Given the description of an element on the screen output the (x, y) to click on. 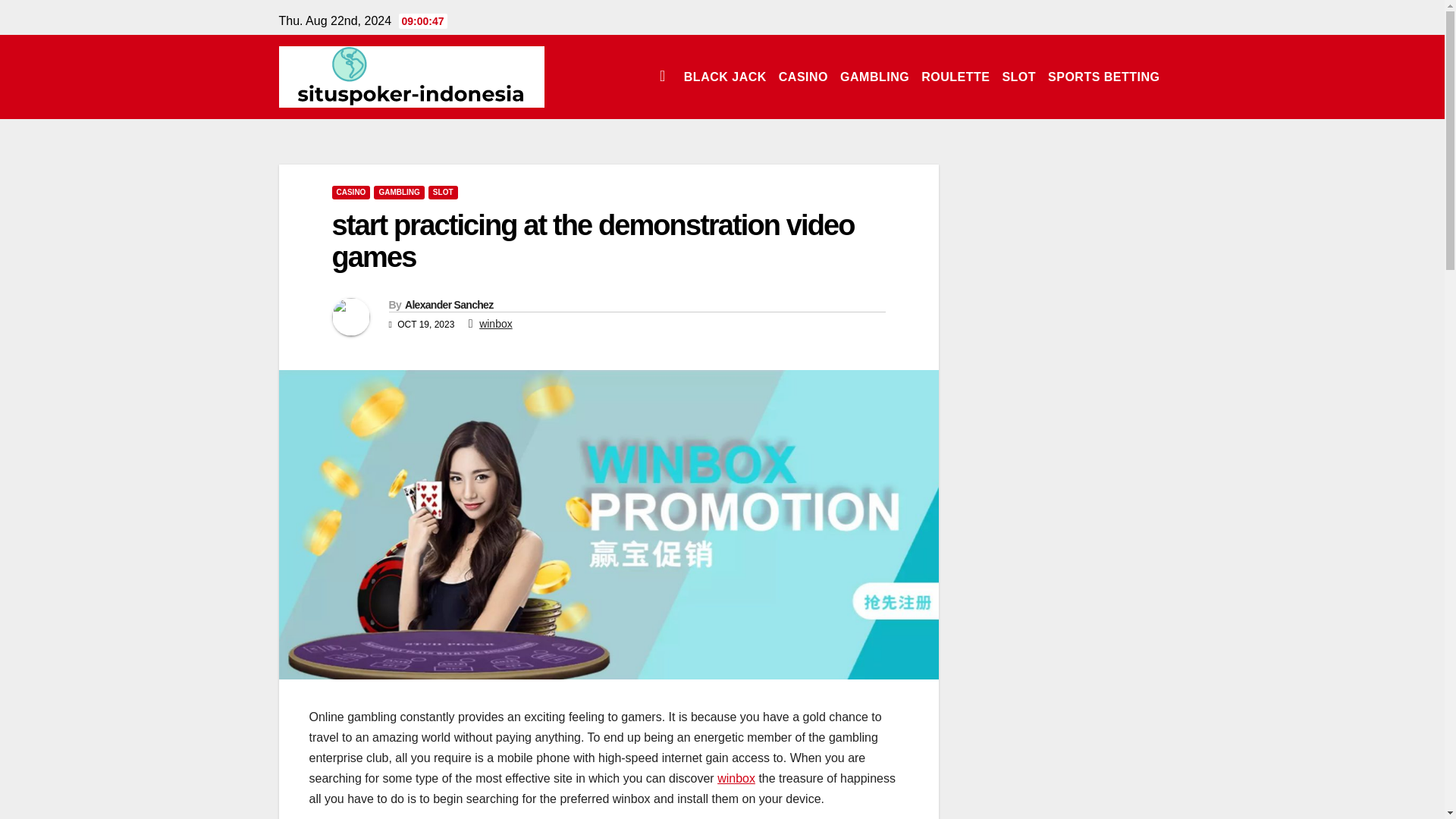
SPORTS BETTING (1104, 76)
winbox (736, 778)
start practicing at the demonstration video games (592, 240)
GAMBLING (874, 76)
CASINO (803, 76)
ROULETTE (955, 76)
Alexander Sanchez (448, 304)
GAMBLING (874, 76)
SPORTS BETTING (1104, 76)
ROULETTE (955, 76)
